Given the description of an element on the screen output the (x, y) to click on. 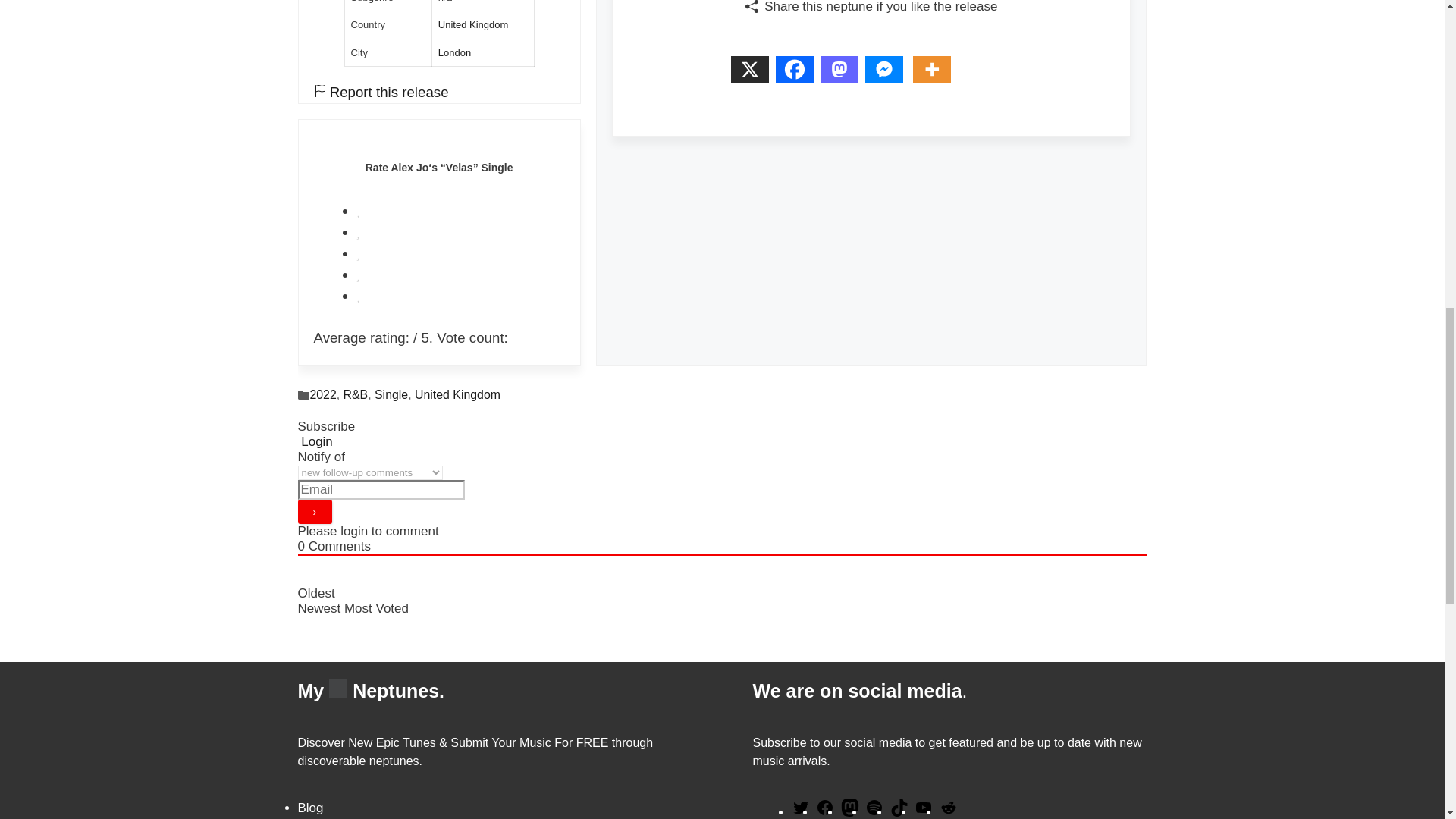
United Kingdom (457, 394)
Search for other neptunes from United Kingdom (473, 24)
Facebook (798, 74)
X (753, 74)
Single (390, 394)
London (454, 52)
United Kingdom (473, 24)
Scroll back to top (1406, 720)
Mastodon (842, 74)
